Given the description of an element on the screen output the (x, y) to click on. 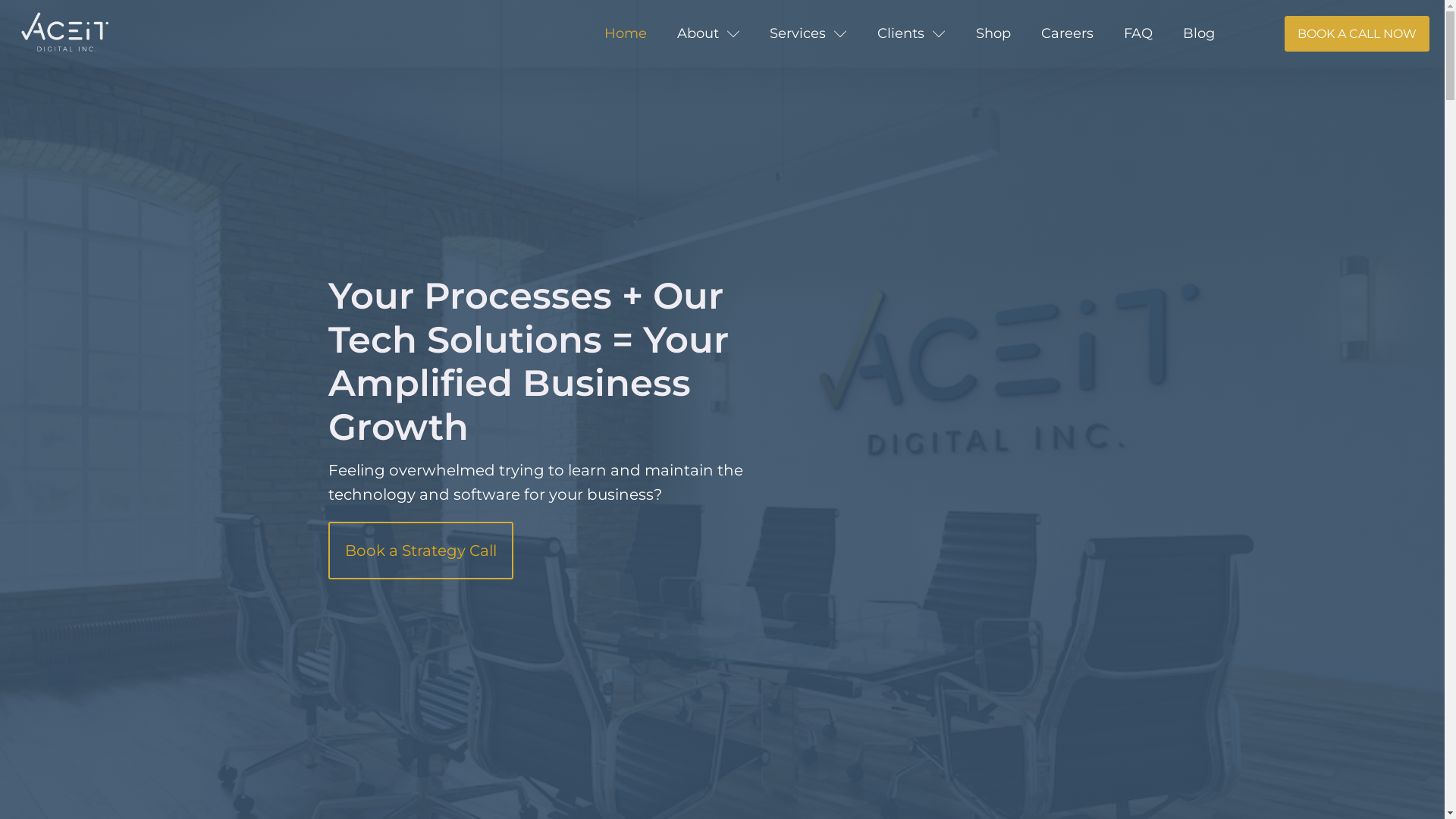
About Element type: text (708, 33)
Home Element type: text (625, 33)
BOOK A CALL NOW Element type: text (1356, 33)
Blog Element type: text (1198, 33)
Services Element type: text (808, 33)
Chat Element type: hover (1406, 778)
Shop Element type: text (992, 33)
Careers Element type: text (1067, 33)
Book a Strategy Call Element type: text (419, 550)
Clients Element type: text (911, 33)
FAQ Element type: text (1137, 33)
